Given the description of an element on the screen output the (x, y) to click on. 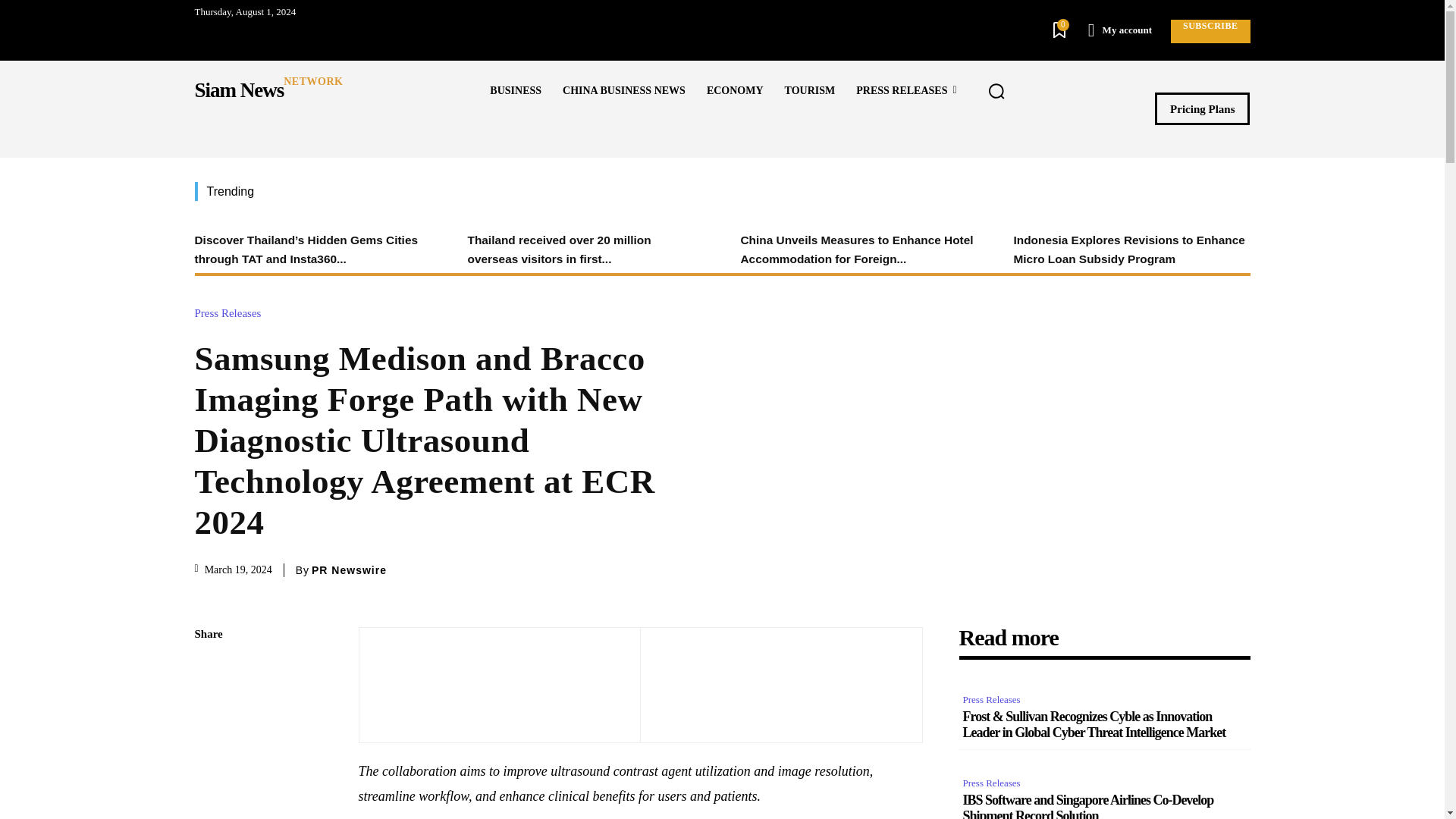
Subscribe (1210, 31)
Pricing Plans (1201, 108)
SUBSCRIBE (1210, 31)
